Given the description of an element on the screen output the (x, y) to click on. 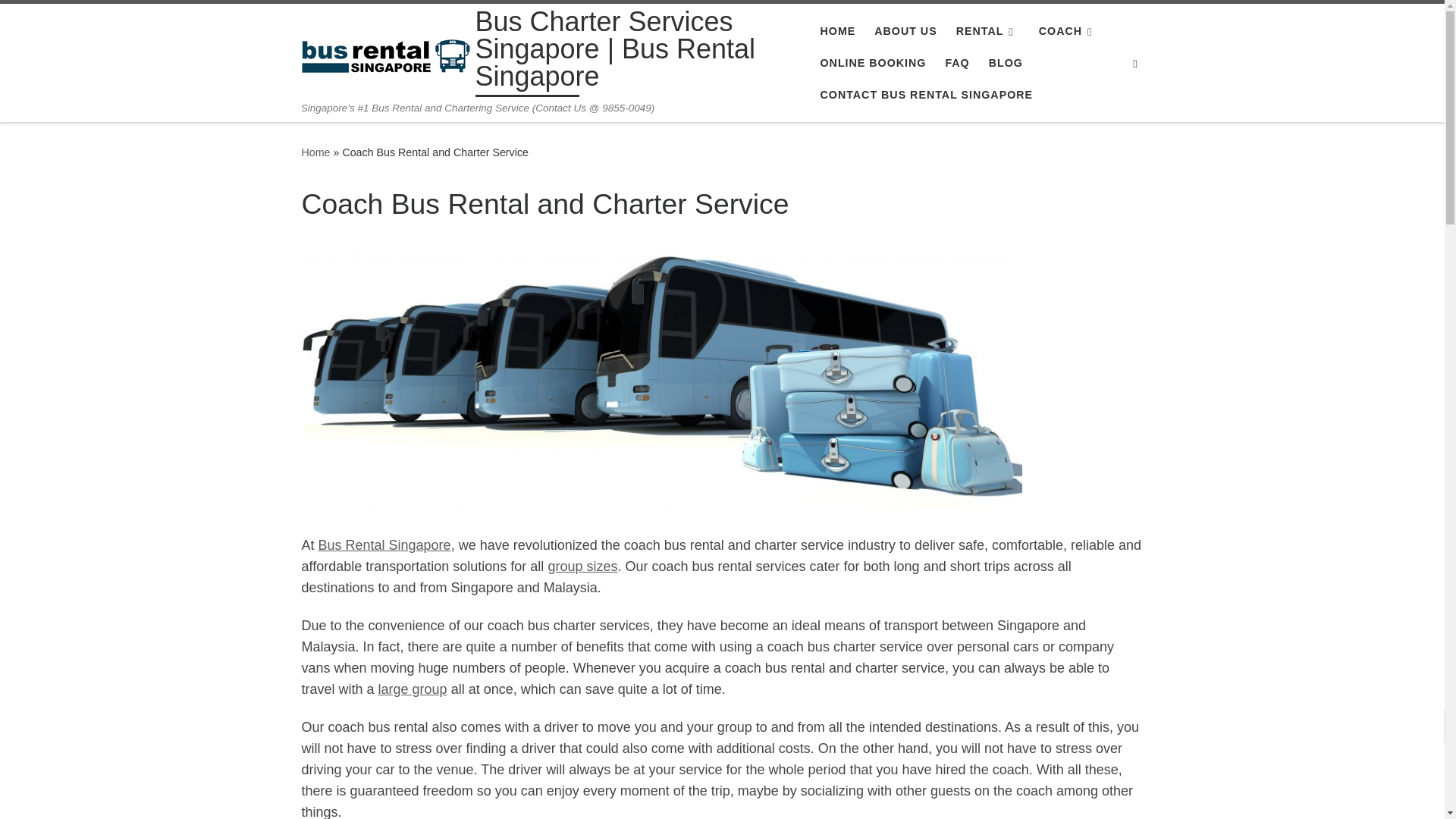
COACH (1068, 30)
HOME (837, 30)
Skip to content (60, 20)
RENTAL (987, 30)
ABOUT US (905, 30)
